Given the description of an element on the screen output the (x, y) to click on. 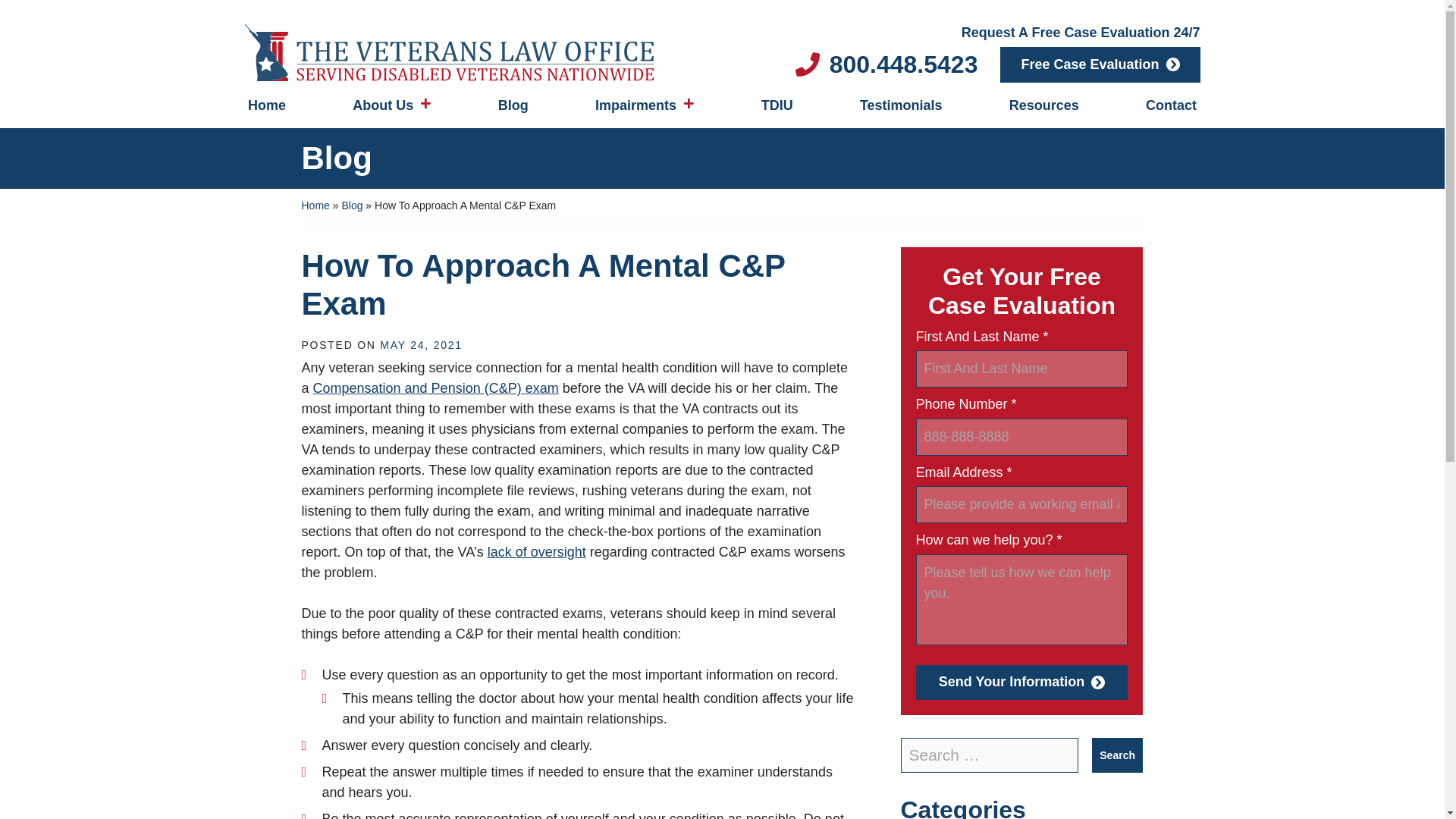
Free Case Evaluation (1099, 64)
Blog (513, 108)
800.448.5423 (886, 64)
Home (266, 108)
Search (1117, 755)
Return home (477, 52)
About Us (392, 107)
Search (1117, 755)
Search for: (989, 755)
Impairments (645, 107)
